Given the description of an element on the screen output the (x, y) to click on. 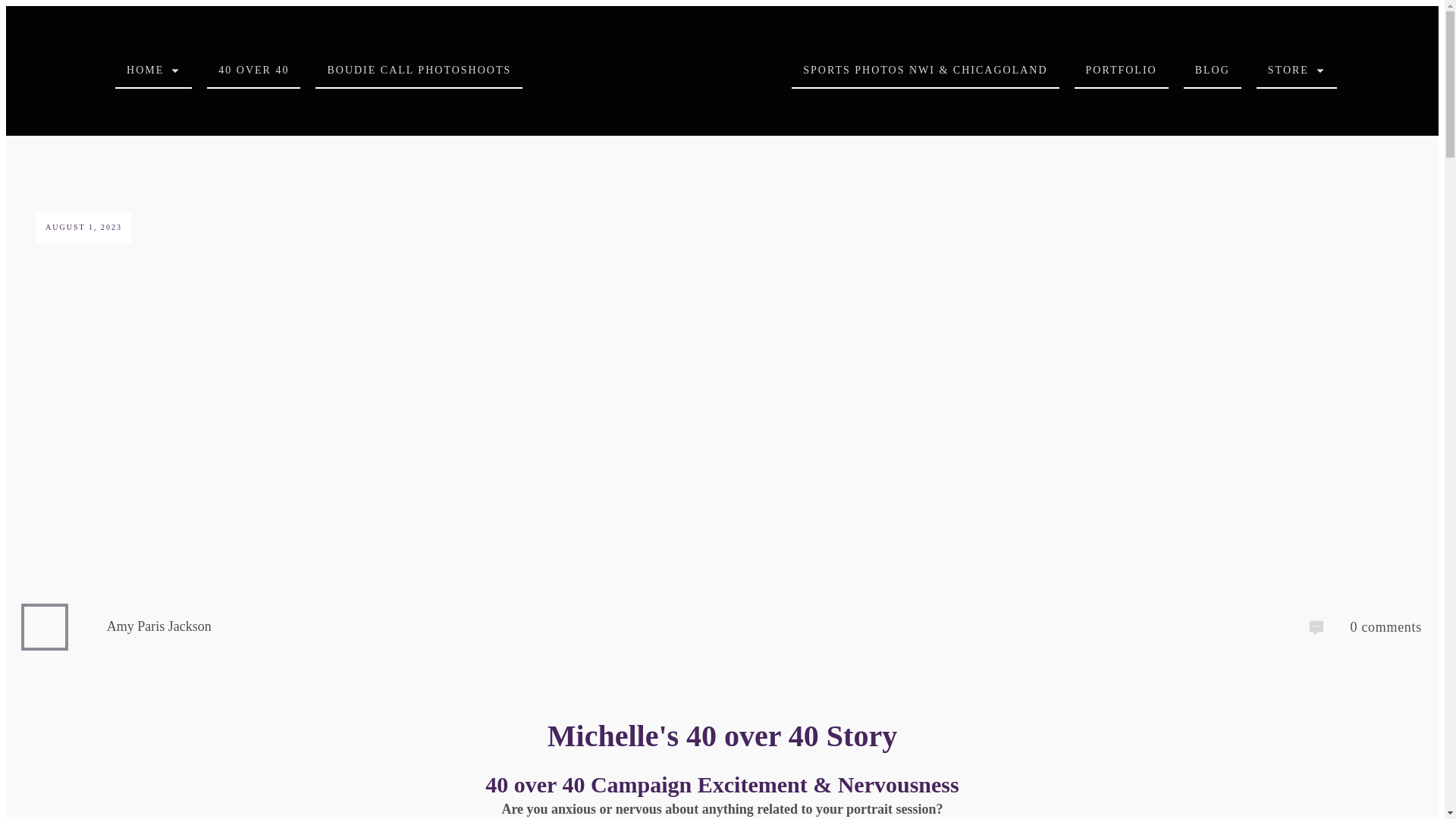
BLOG (1212, 70)
BOUDIE CALL PHOTOSHOOTS (418, 70)
undefined (44, 626)
HOME (153, 70)
PORTFOLIO (1121, 70)
STORE (1296, 70)
40 OVER 40 (253, 70)
